Given the description of an element on the screen output the (x, y) to click on. 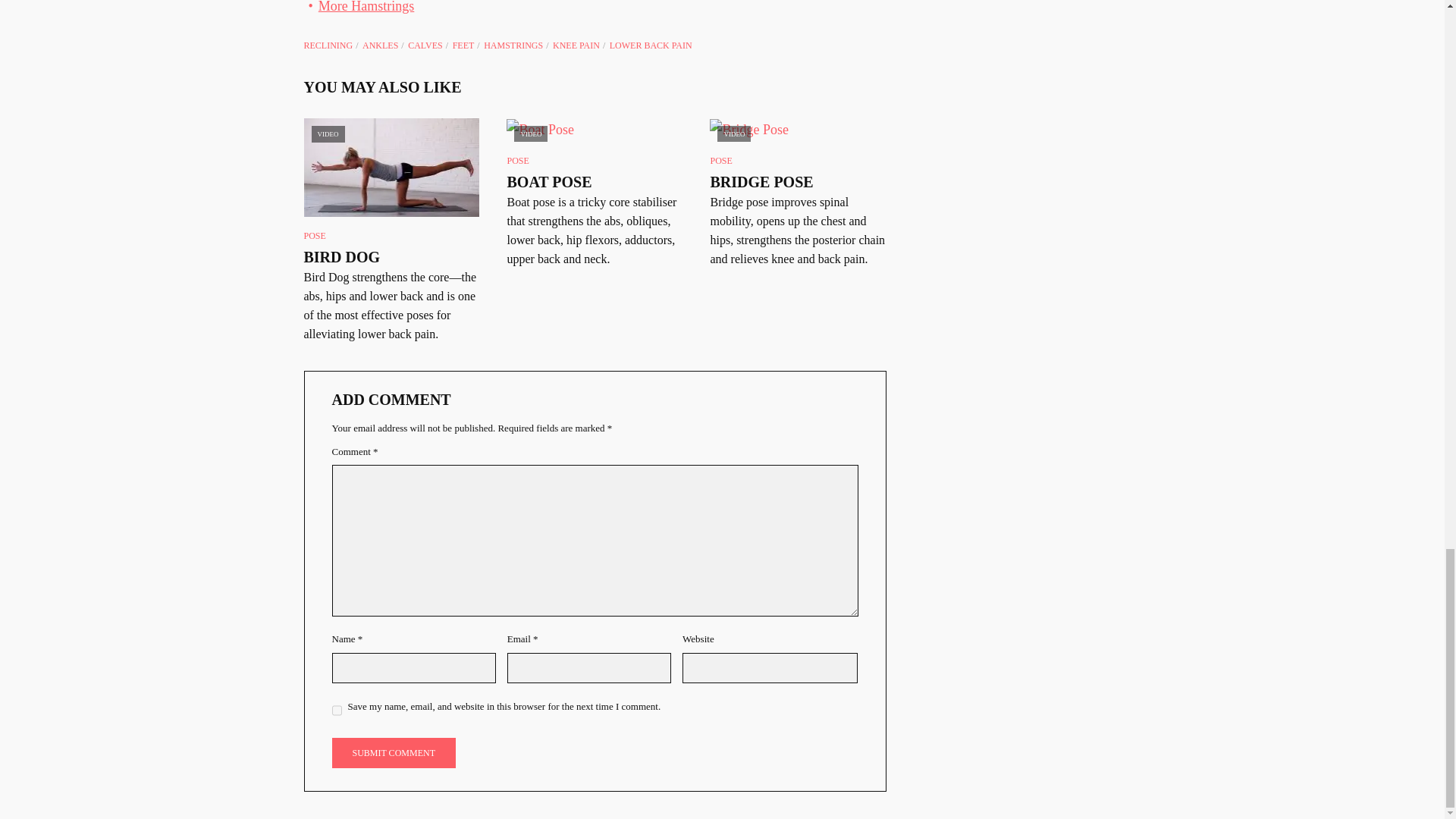
Bridge Pose (797, 129)
Bird Dog (390, 167)
Boat Pose (594, 129)
Submit Comment (393, 752)
